Given the description of an element on the screen output the (x, y) to click on. 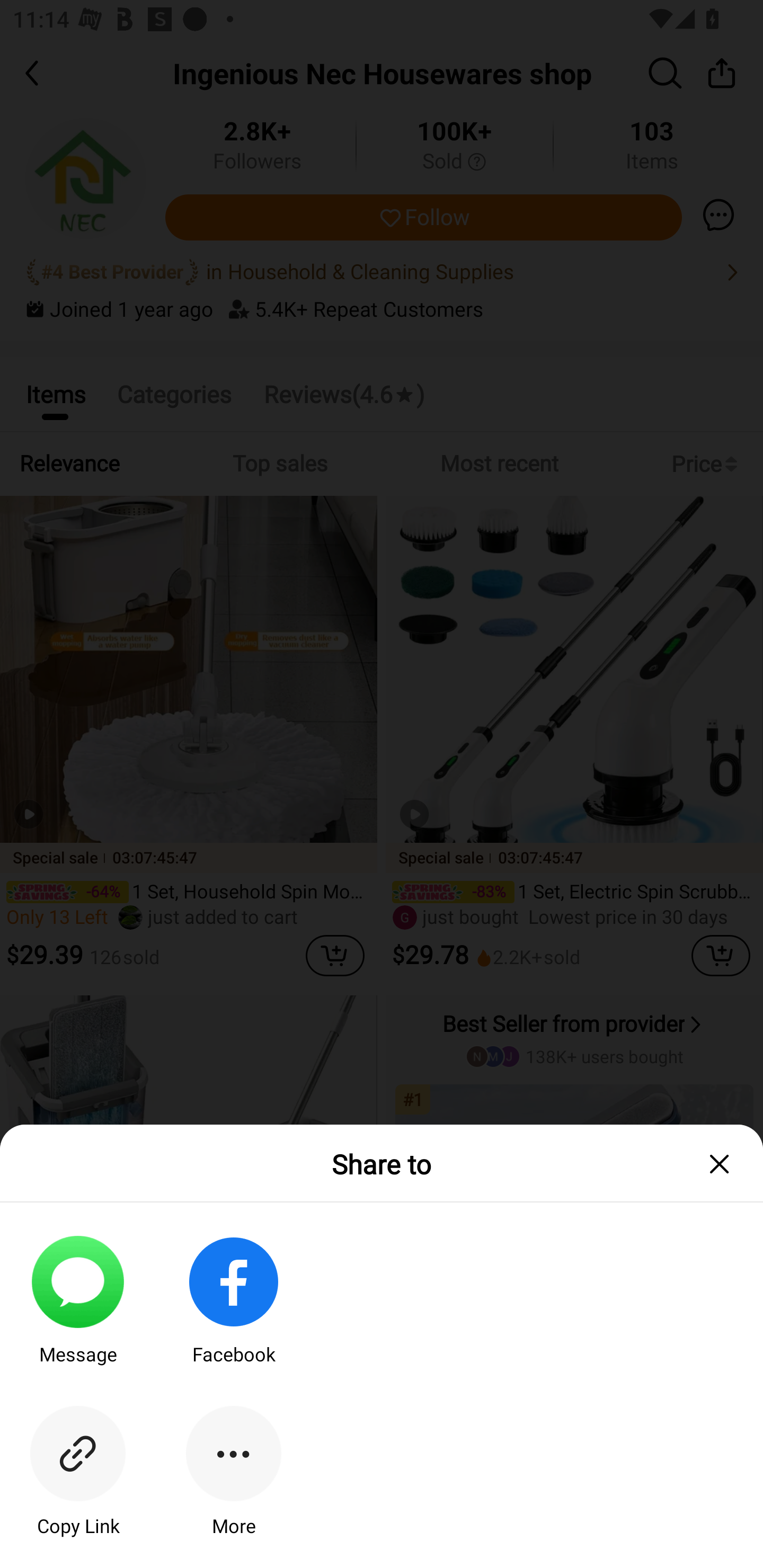
close (724, 1163)
Message (77, 1315)
Facebook (233, 1315)
Copy Link (77, 1487)
More (233, 1487)
